Given the description of an element on the screen output the (x, y) to click on. 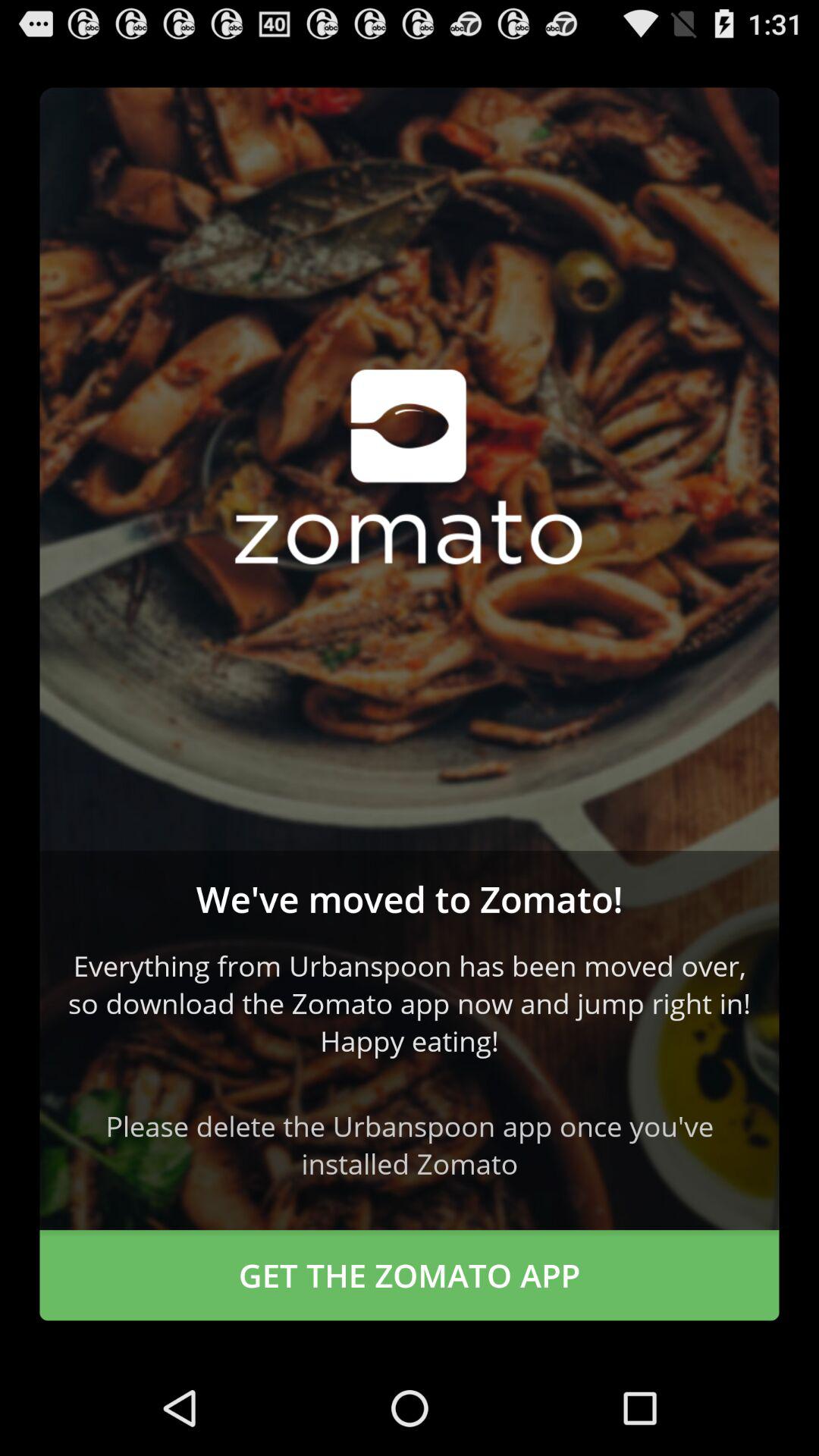
turn off item above the we ve moved icon (409, 468)
